Given the description of an element on the screen output the (x, y) to click on. 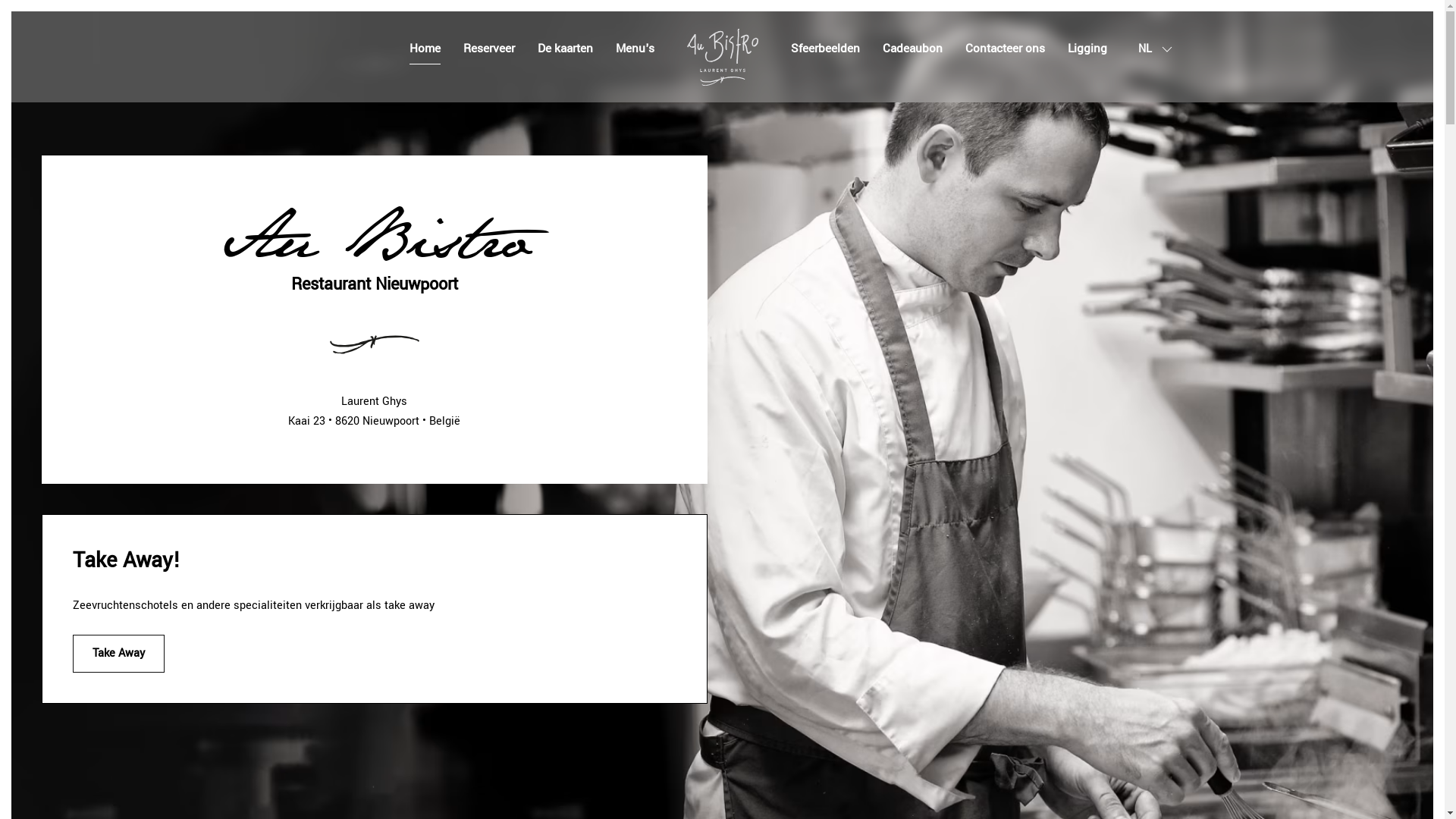
Cadeaubon Element type: text (912, 49)
Reserveer Element type: text (488, 49)
Home Element type: text (424, 49)
Take Away Element type: text (118, 653)
Sfeerbeelden Element type: text (824, 49)
De kaarten Element type: text (564, 49)
Menu's Element type: text (634, 49)
Ligging Element type: text (1087, 49)
Contacteer ons Element type: text (1004, 49)
NL Element type: text (1156, 48)
